Given the description of an element on the screen output the (x, y) to click on. 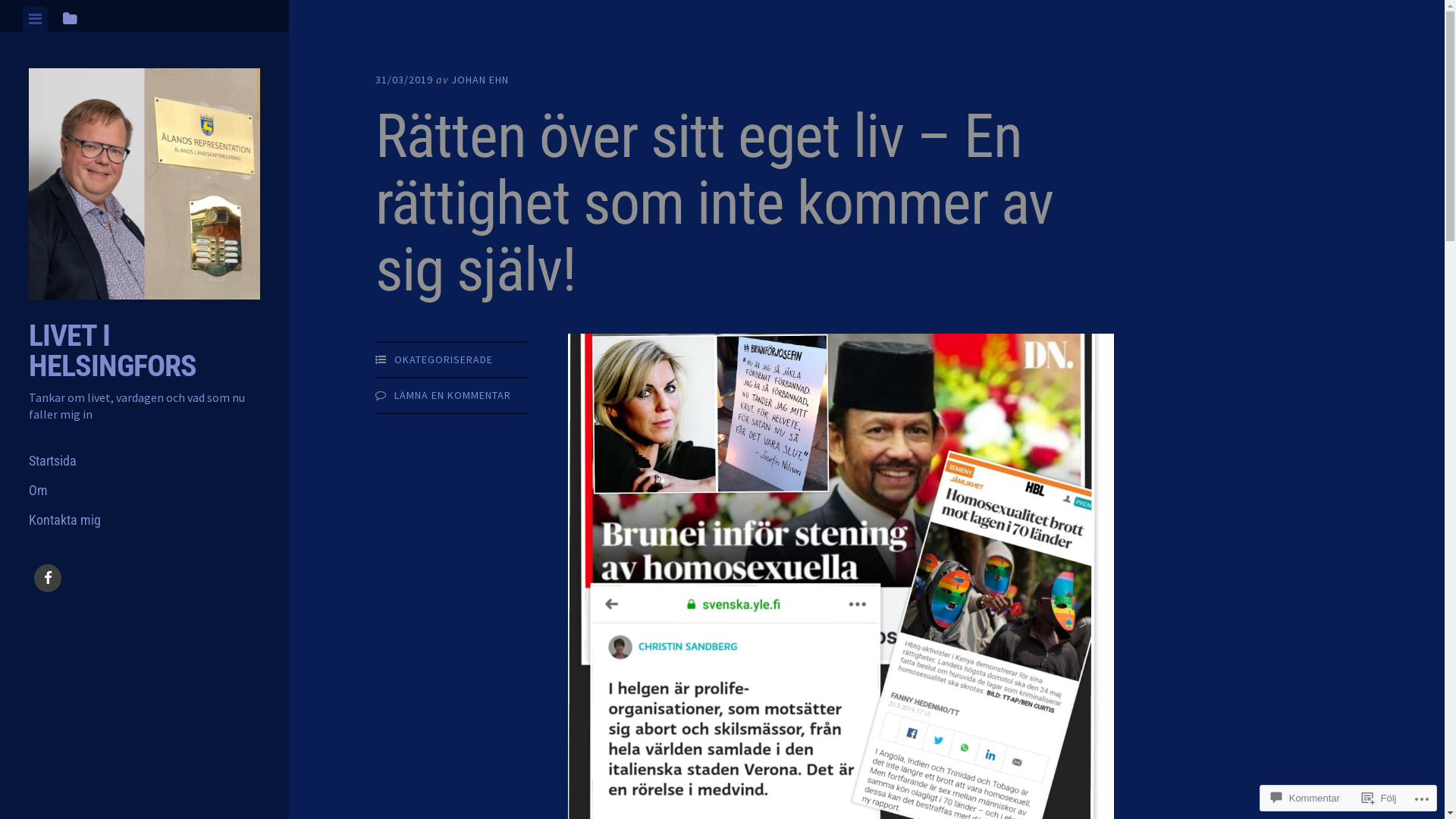
LIVET I HELSINGFORS Element type: text (112, 350)
31/03/2019 Element type: text (404, 79)
Kontakta mig Element type: text (144, 519)
JOHAN EHN Element type: text (479, 79)
Startsida Element type: text (144, 460)
OKATEGORISERADE Element type: text (443, 359)
Om Element type: text (144, 490)
Kommentar Element type: text (1305, 797)
